Given the description of an element on the screen output the (x, y) to click on. 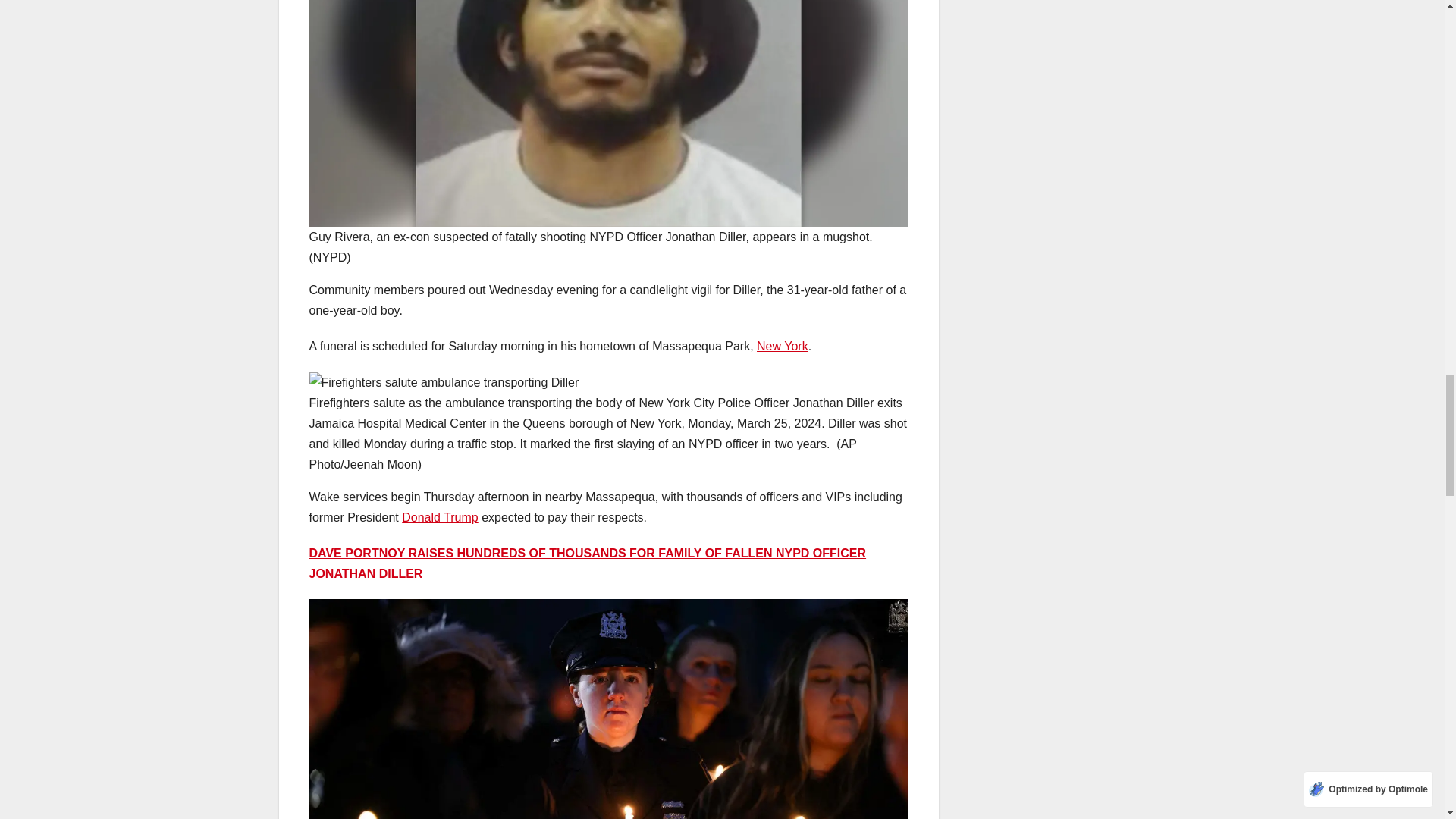
Donald Trump (440, 517)
New York (782, 345)
